Given the description of an element on the screen output the (x, y) to click on. 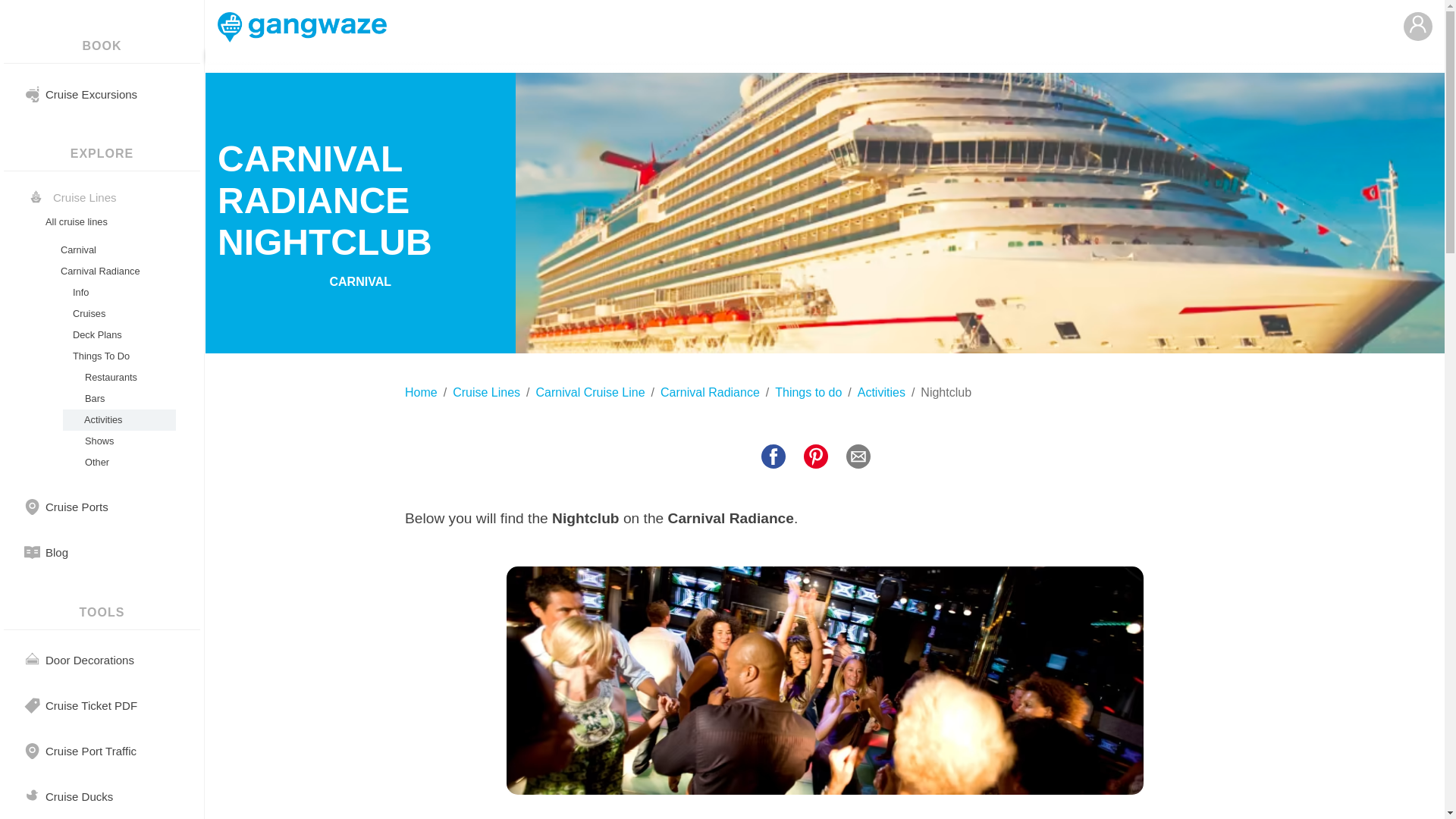
Activities (881, 393)
Carnival (117, 250)
Blog (56, 552)
Carnival Radiance Info (117, 292)
Carnival Radiance (117, 271)
Carnival Radiance Restaurants (117, 377)
Cruise Door Decroations (89, 659)
Cruise Blog (56, 552)
Cruise Port Traffic (90, 750)
Things to do (807, 393)
Cruise Lines (485, 393)
Carnival Cruise Line (590, 393)
Cruise Ducks (79, 796)
Carnival Radiance (117, 271)
Go to homepage (301, 30)
